Given the description of an element on the screen output the (x, y) to click on. 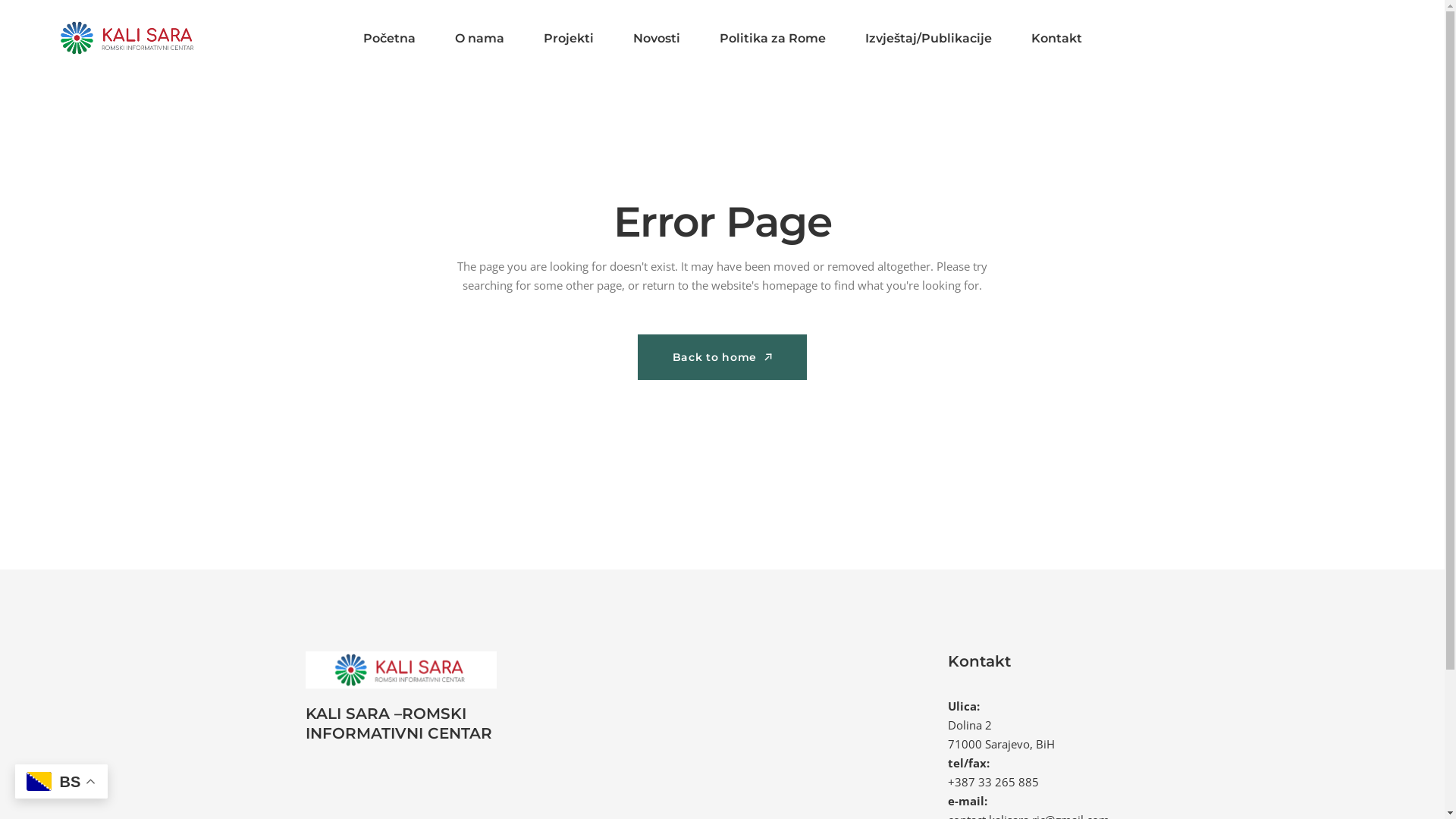
Politika za Rome Element type: text (771, 37)
Projekti Element type: text (567, 37)
Kontakt Element type: text (1056, 37)
O nama Element type: text (479, 37)
Back to home
Back to home Element type: text (721, 356)
Novosti Element type: text (655, 37)
